Given the description of an element on the screen output the (x, y) to click on. 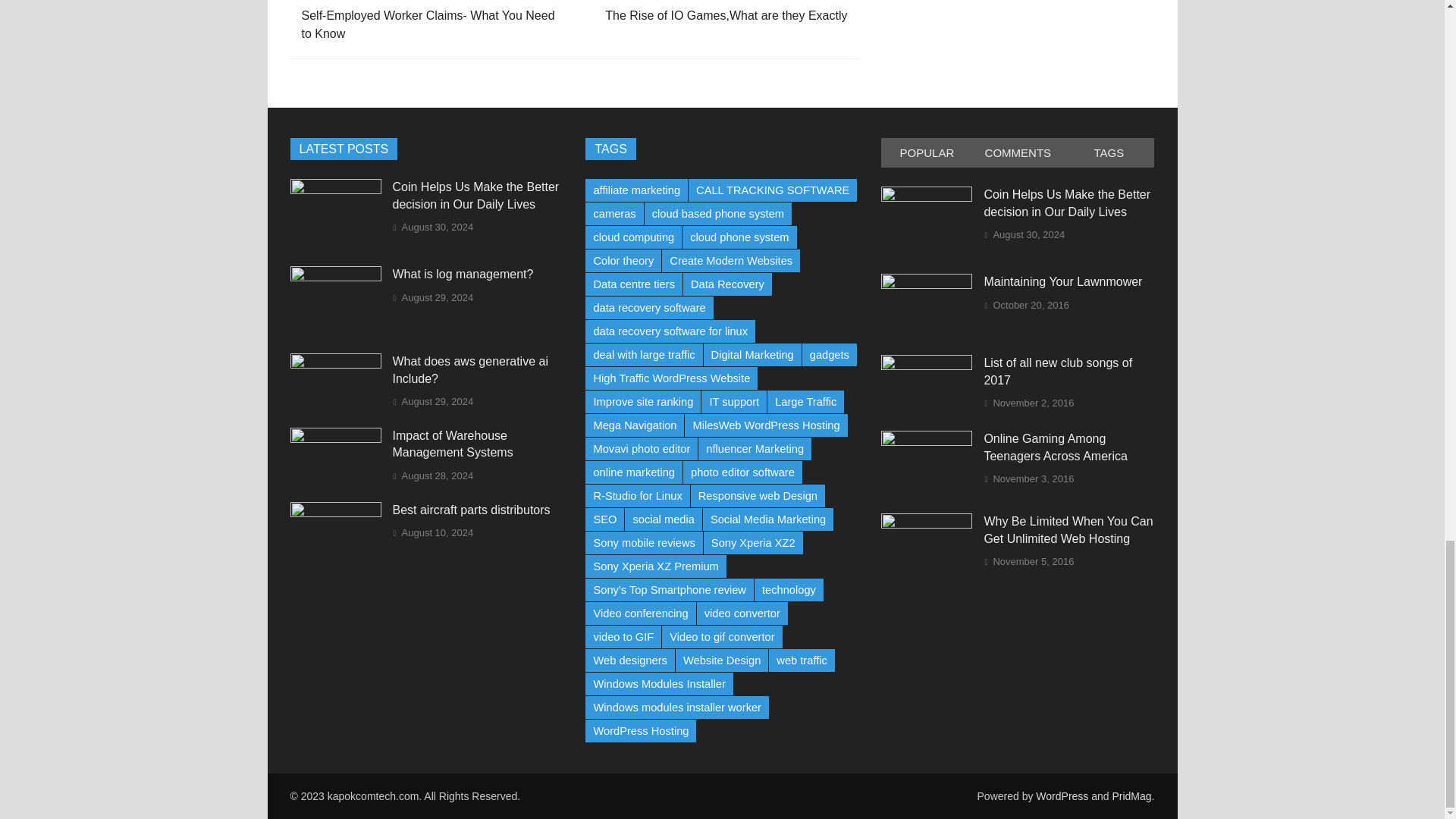
Why Be Limited When You Can Get Unlimited Web Hosting (926, 523)
Maintaining Your Lawnmower (926, 284)
List of all new club songs of 2017 (926, 365)
Impact of Warehouse Management Systems (334, 438)
Online Gaming Among Teenagers Across America (926, 440)
